Given the description of an element on the screen output the (x, y) to click on. 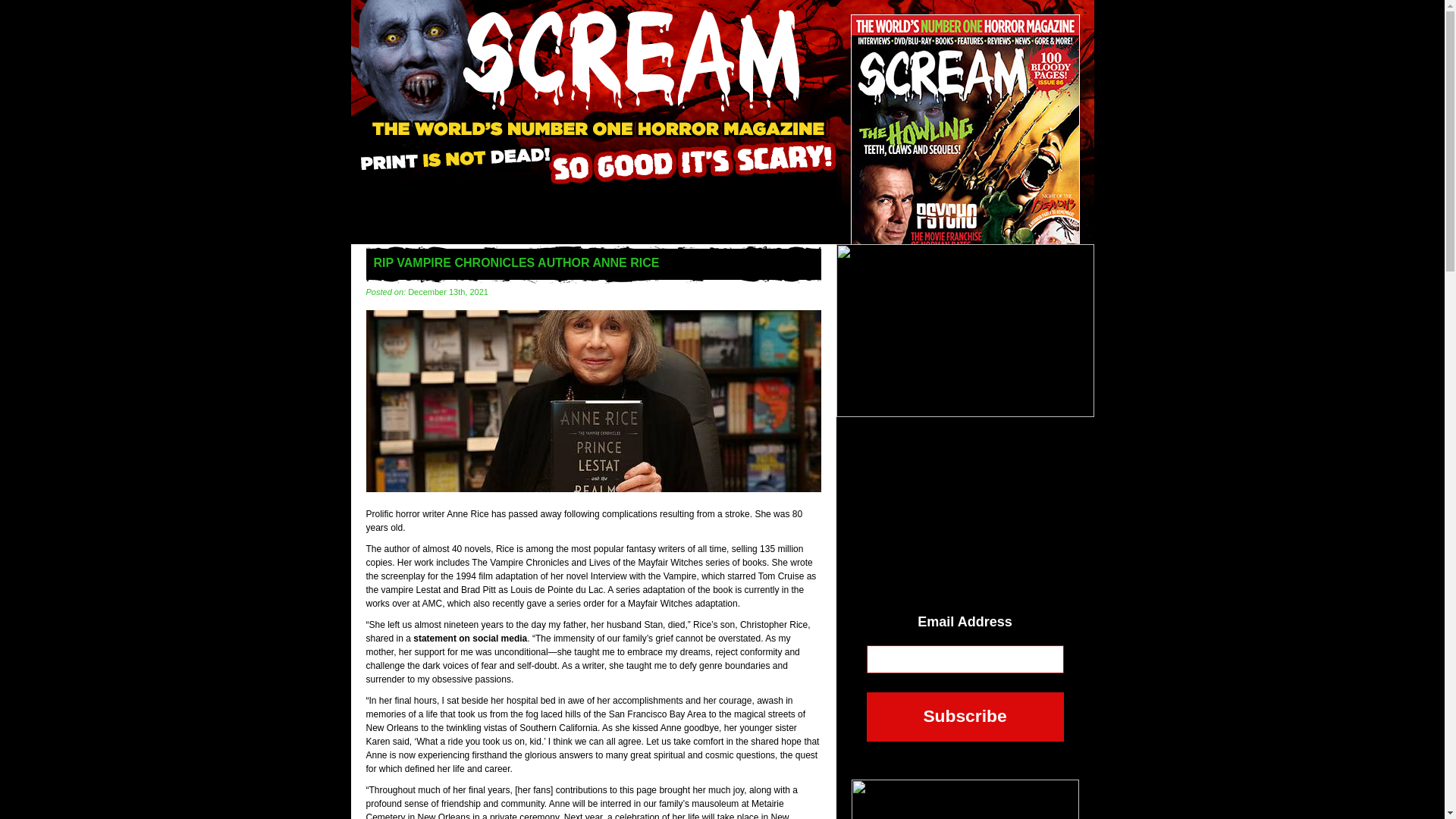
statement on social media (470, 638)
RIP VAMPIRE CHRONICLES AUTHOR ANNE RICE (593, 489)
Subscribe (964, 717)
Subscribe (964, 717)
